Given the description of an element on the screen output the (x, y) to click on. 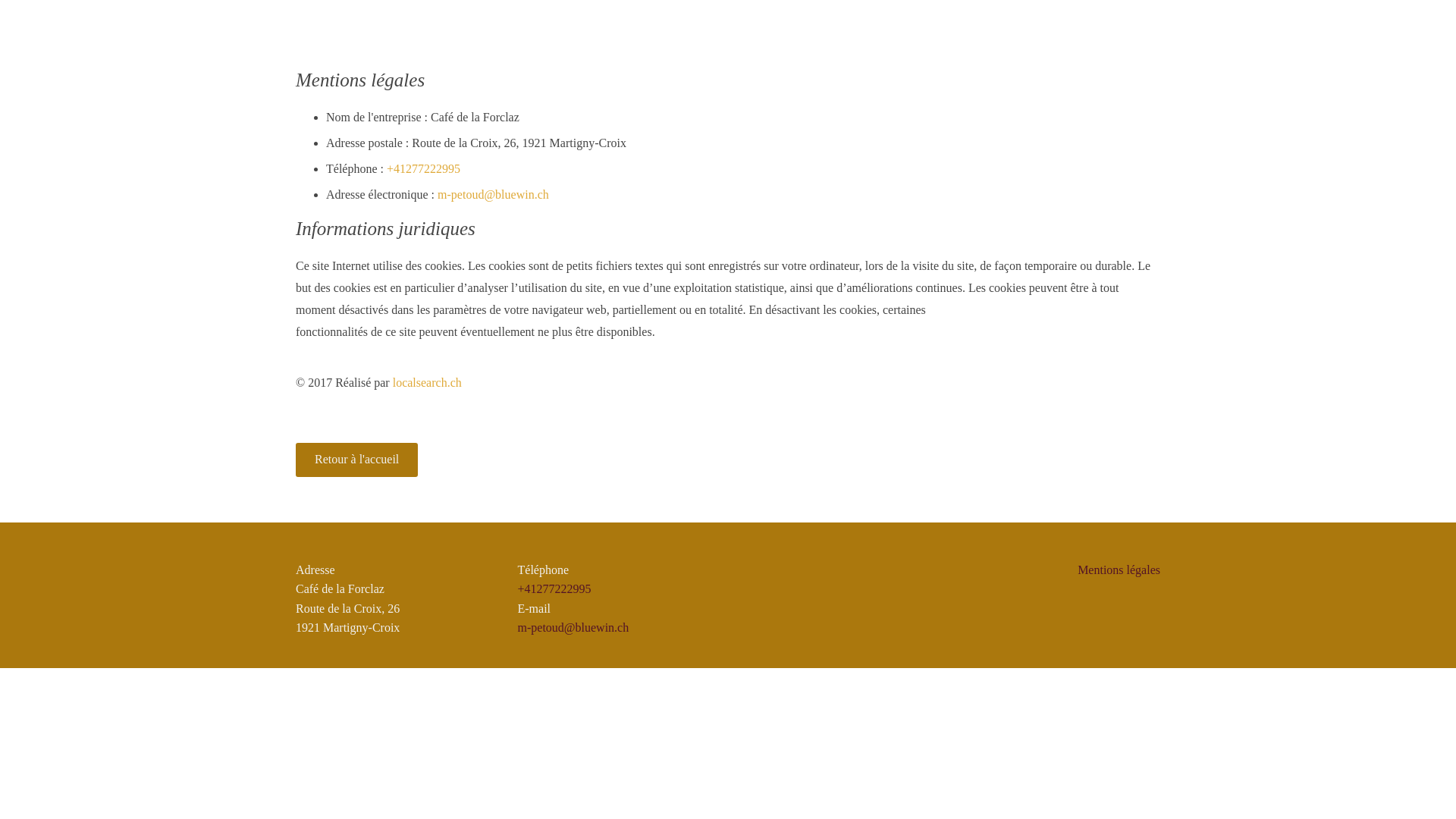
m-petoud@bluewin.ch Element type: text (572, 627)
m-petoud@bluewin.ch Element type: text (493, 194)
+41277222995 Element type: text (553, 588)
localsearch.ch Element type: text (426, 382)
+41277222995 Element type: text (423, 168)
